Given the description of an element on the screen output the (x, y) to click on. 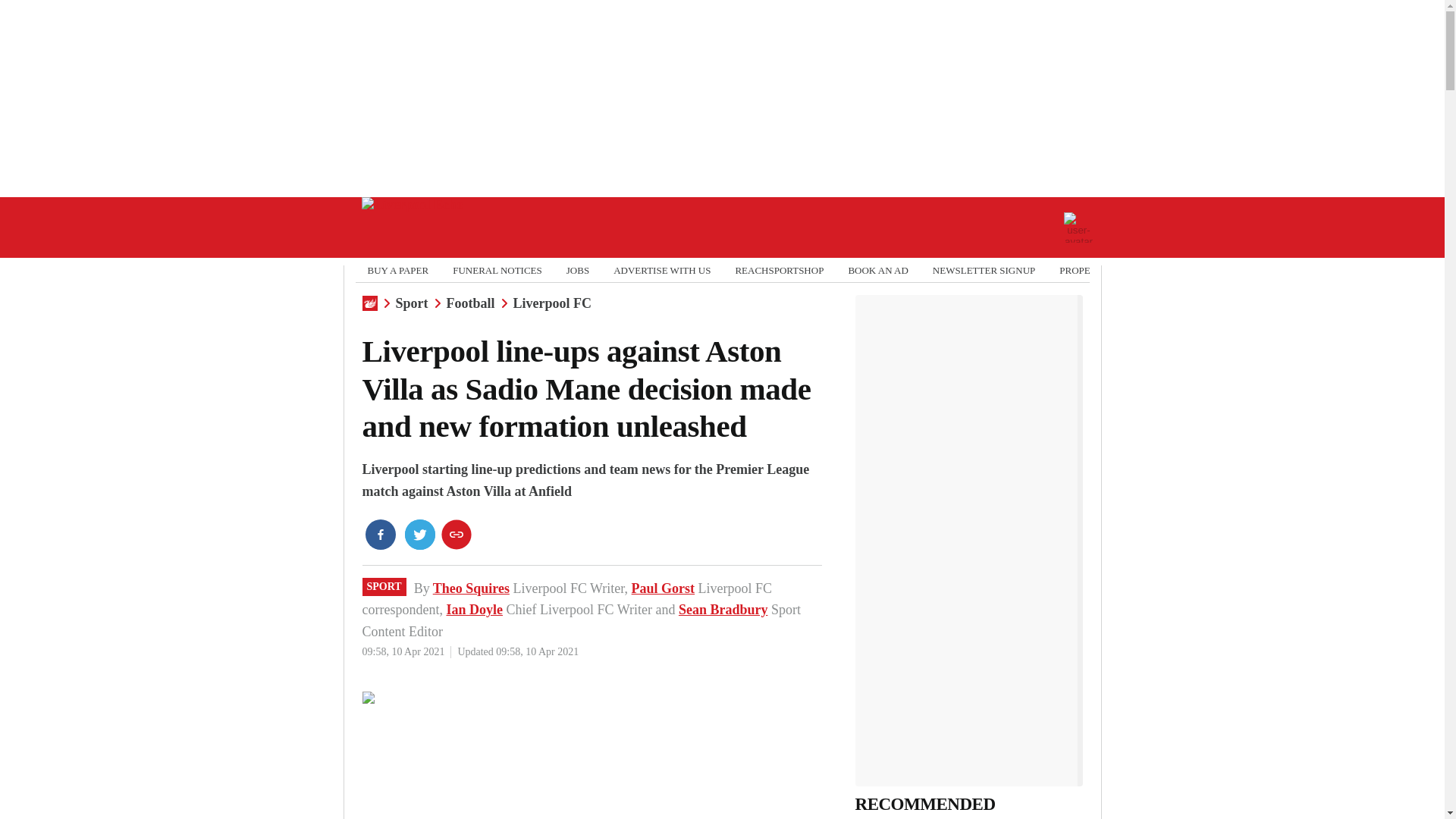
ADVERTISE WITH US (661, 270)
Theo Squires (470, 588)
copy link (456, 534)
REACHSPORTSHOP (779, 270)
PROPERTY (1084, 270)
Ian Doyle (473, 609)
Paul Gorst (663, 588)
Go to the Liverpool Echo homepage (411, 227)
SPORT (384, 587)
Football (470, 303)
